Given the description of an element on the screen output the (x, y) to click on. 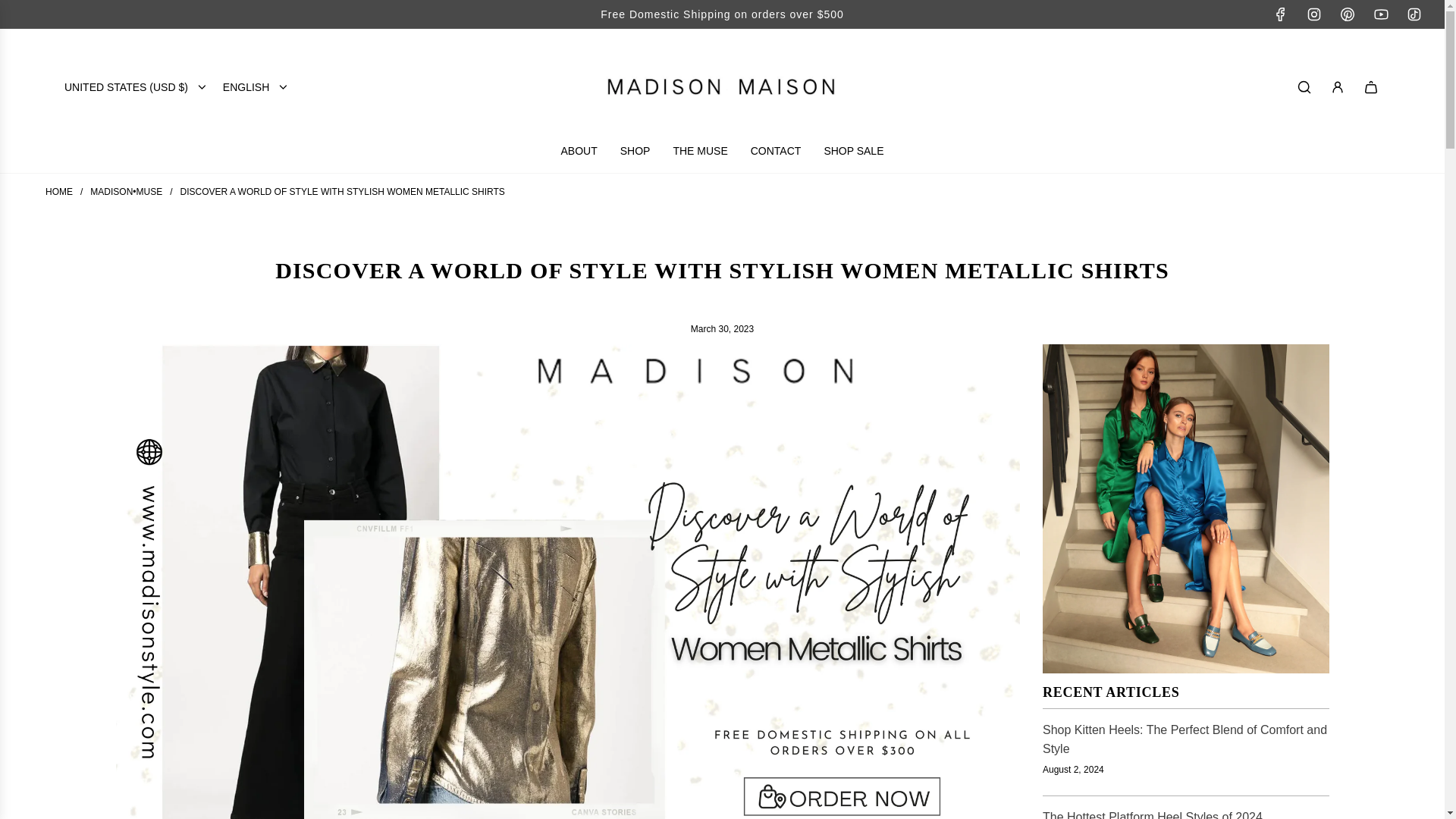
Back to the frontpage (58, 191)
